Given the description of an element on the screen output the (x, y) to click on. 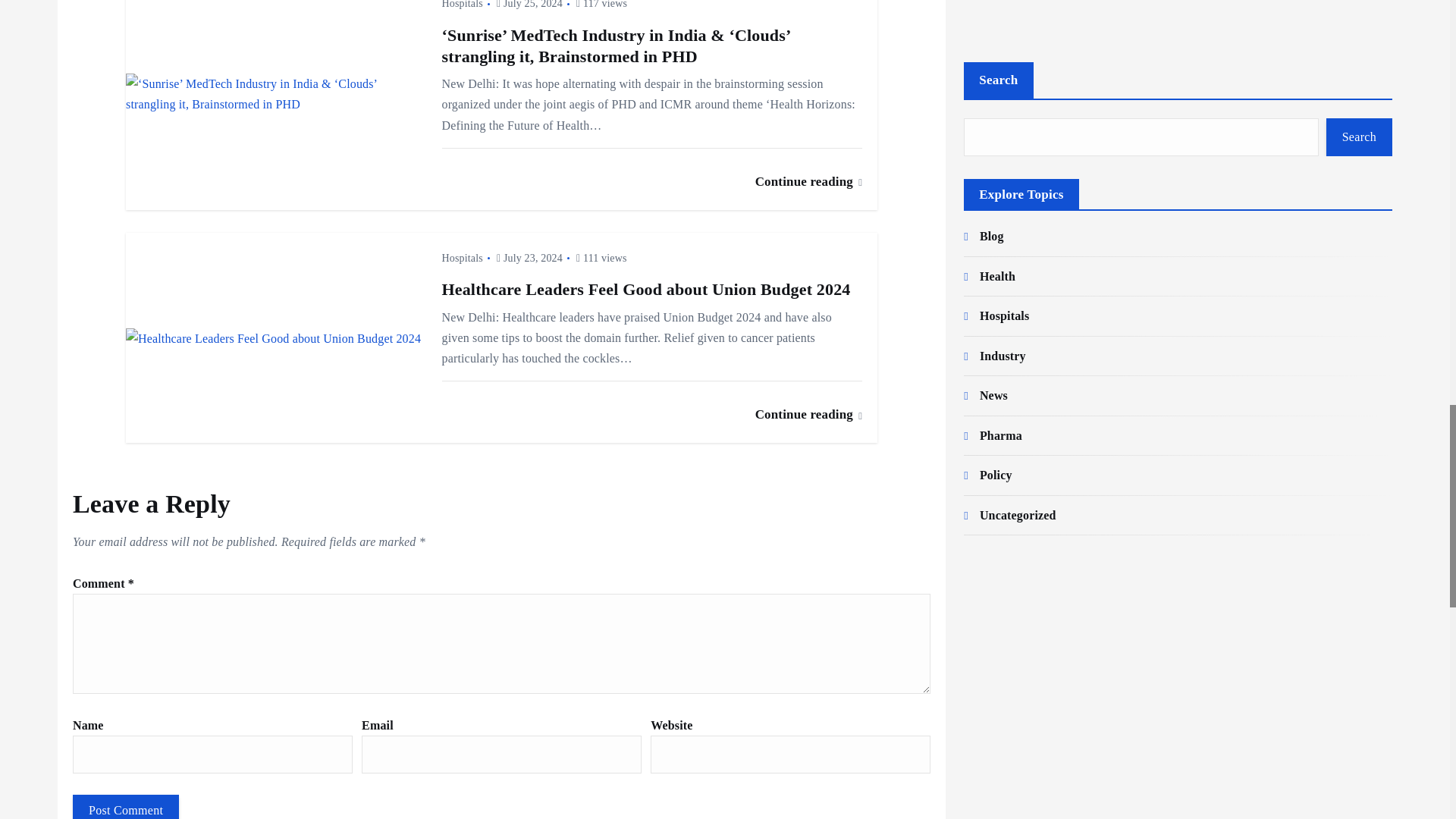
Post Comment (125, 806)
